Given the description of an element on the screen output the (x, y) to click on. 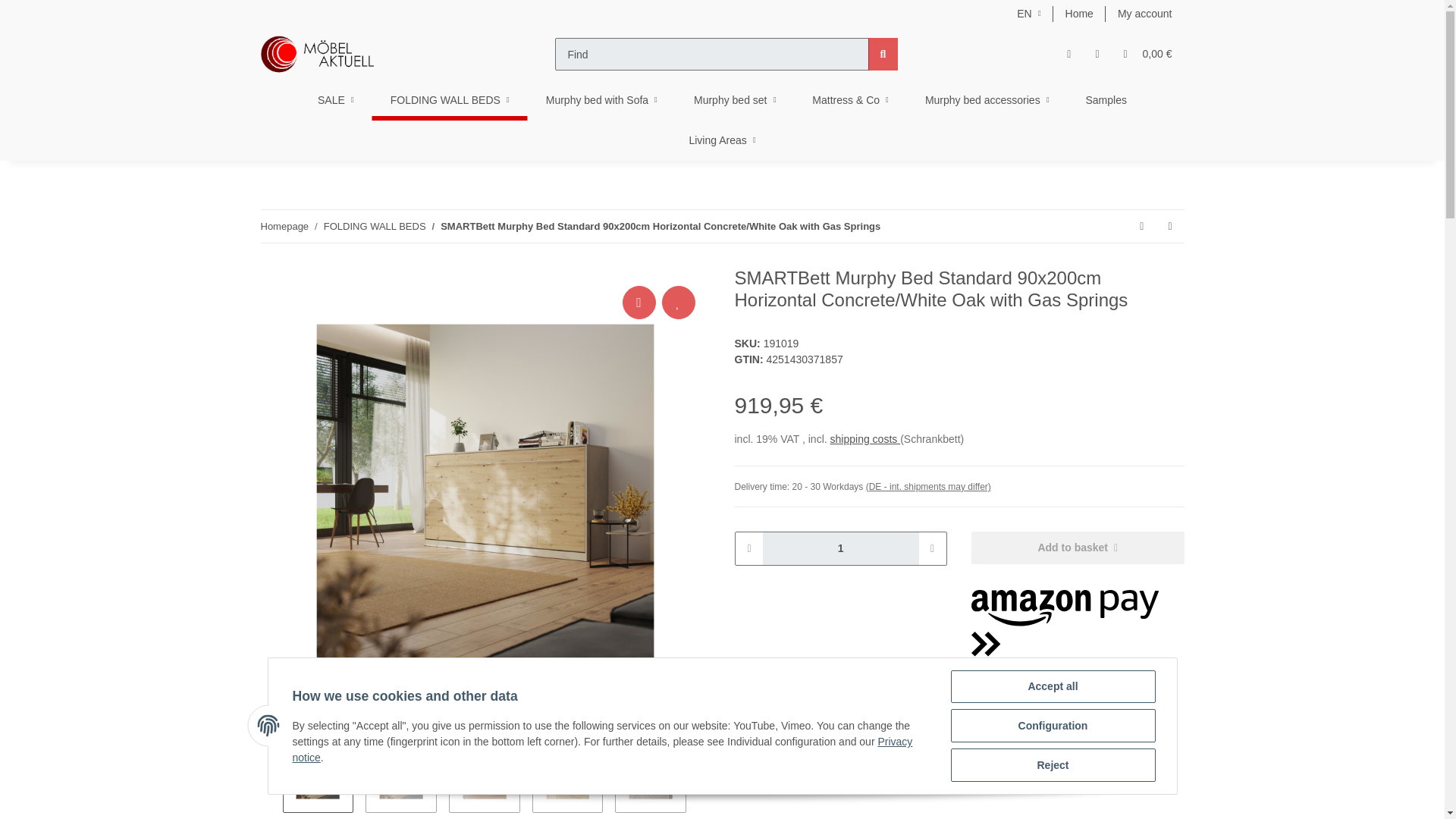
Murphy bed accessories (987, 100)
Murphy bed set (734, 100)
Murphy bed with Sofa (601, 100)
Living Areas (721, 140)
Samples (1105, 100)
Murphy bed with Sofa (601, 100)
SALE (335, 100)
1 (840, 548)
EN (1028, 13)
FOLDING WALL BEDS (449, 100)
Murphy bed set (734, 100)
Home (1078, 13)
Murphy bed accessories (987, 100)
SALE (335, 100)
My account (1145, 13)
